Given the description of an element on the screen output the (x, y) to click on. 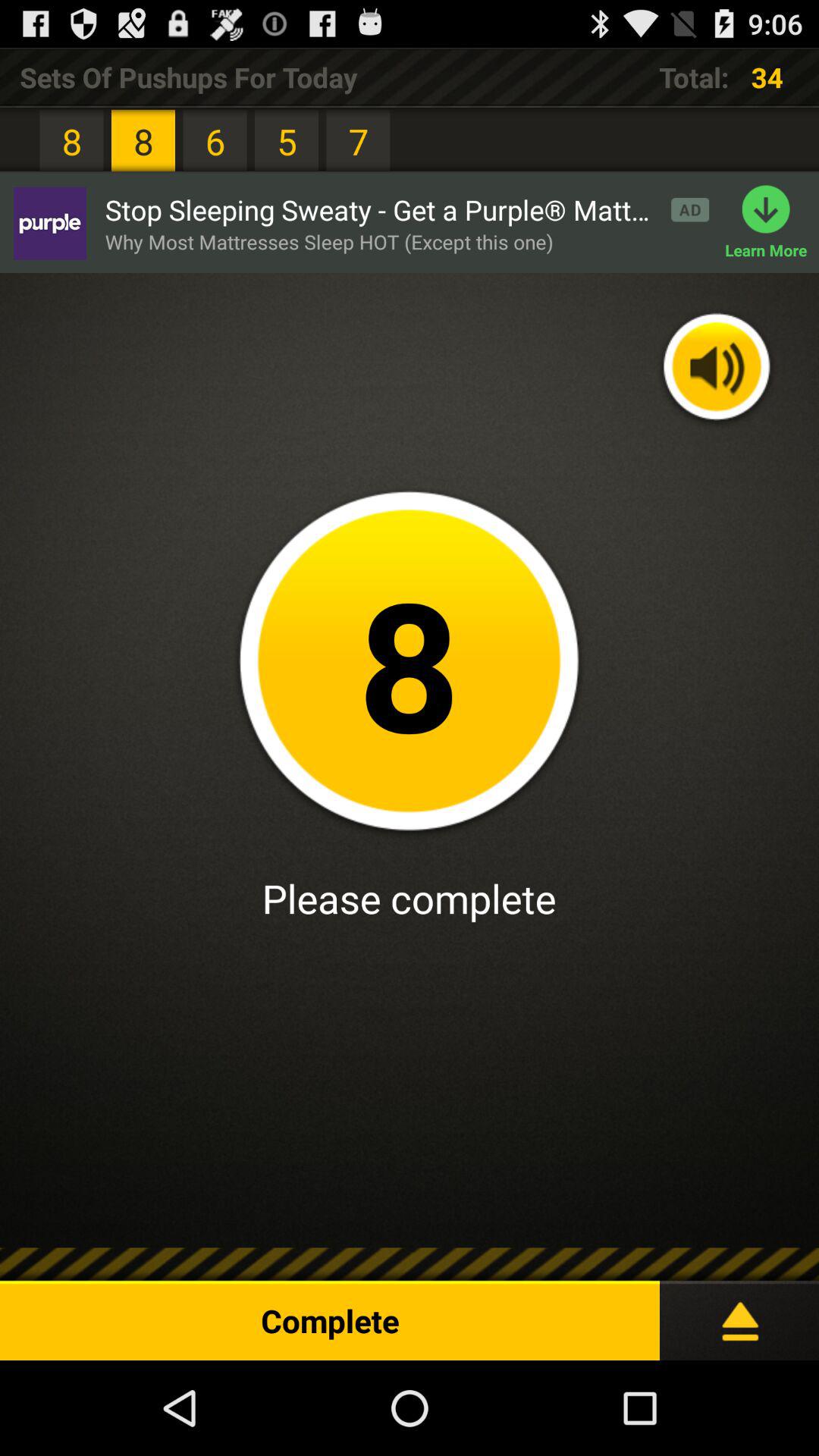
choose the item to the left of the learn more icon (329, 241)
